Given the description of an element on the screen output the (x, y) to click on. 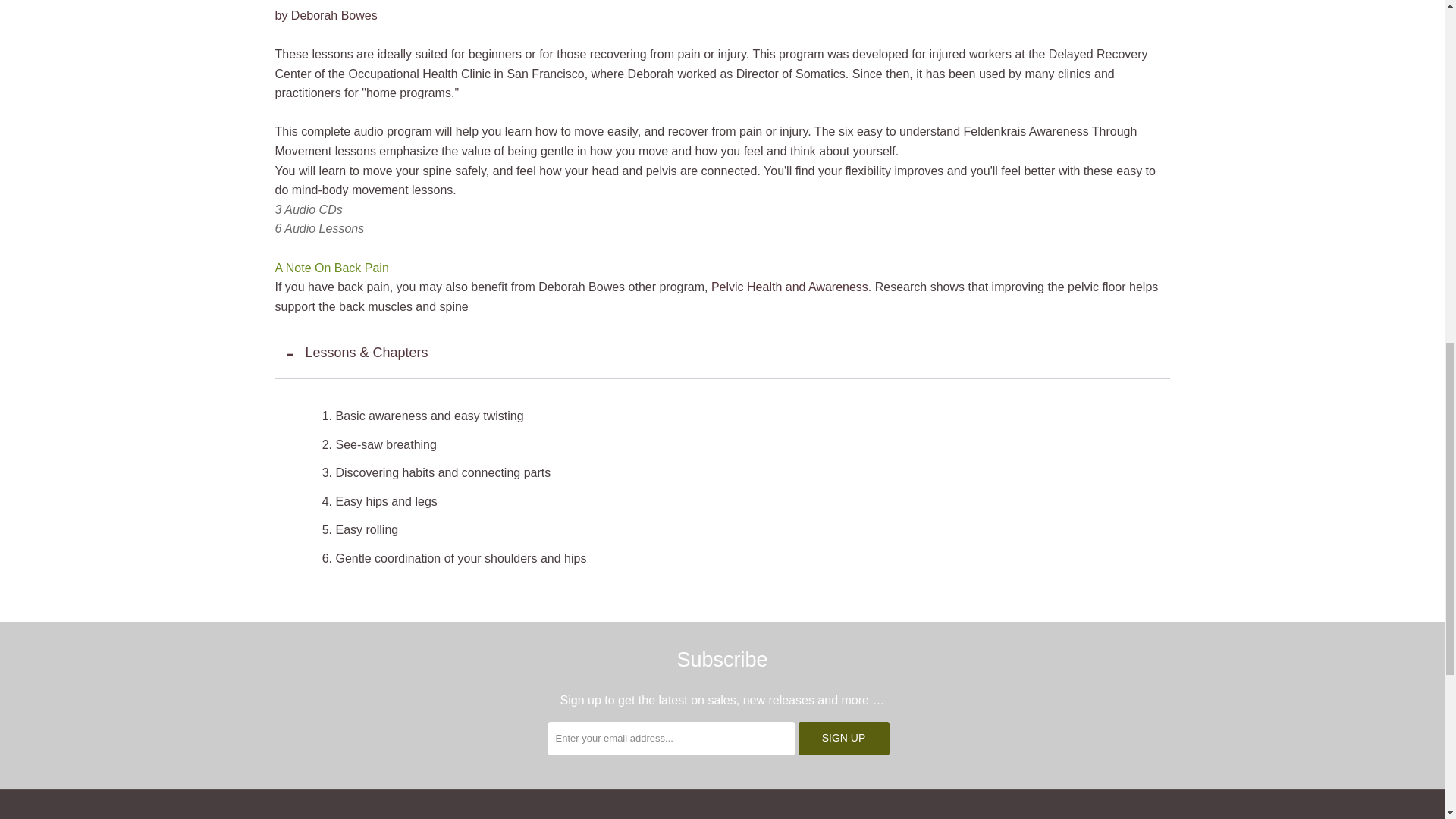
Sign Up (842, 738)
